Given the description of an element on the screen output the (x, y) to click on. 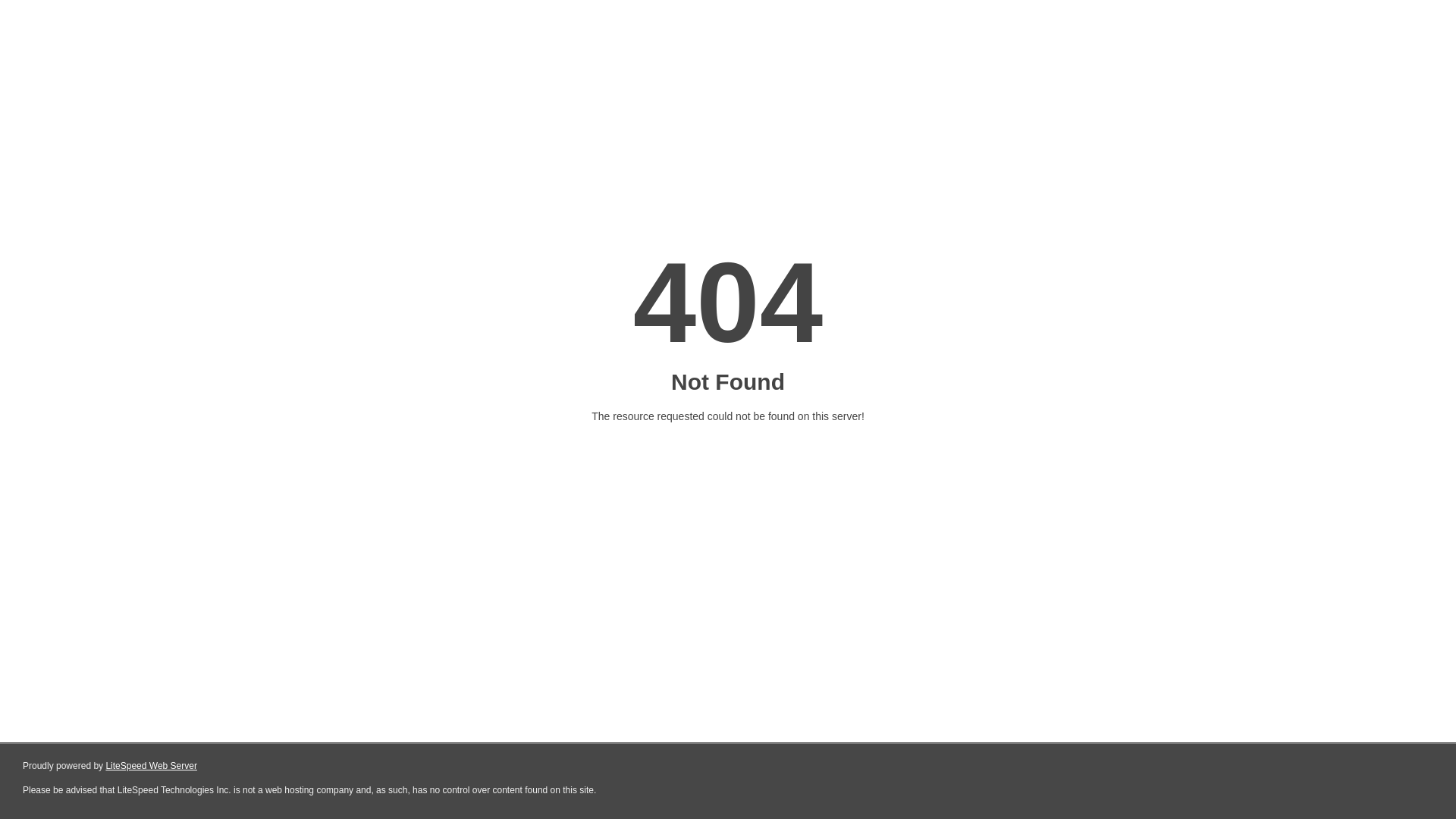
LiteSpeed Web Server Element type: text (151, 765)
